Given the description of an element on the screen output the (x, y) to click on. 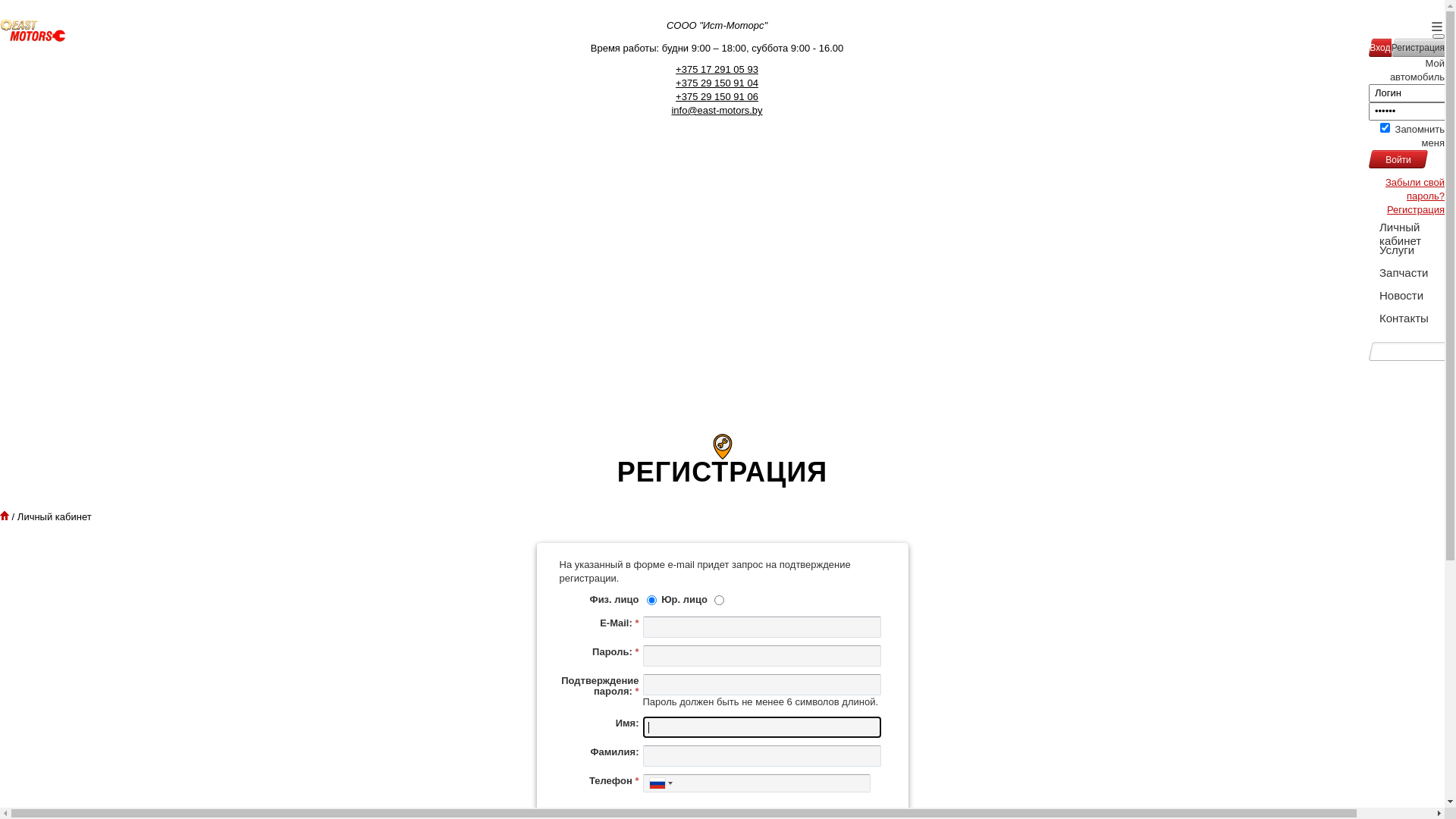
info@east-motors.by Element type: text (716, 110)
+375 17 291 05 93 Element type: text (716, 69)
+375 29 150 91 06 Element type: text (716, 96)
+375 29 150 91 04 Element type: text (716, 82)
